Given the description of an element on the screen output the (x, y) to click on. 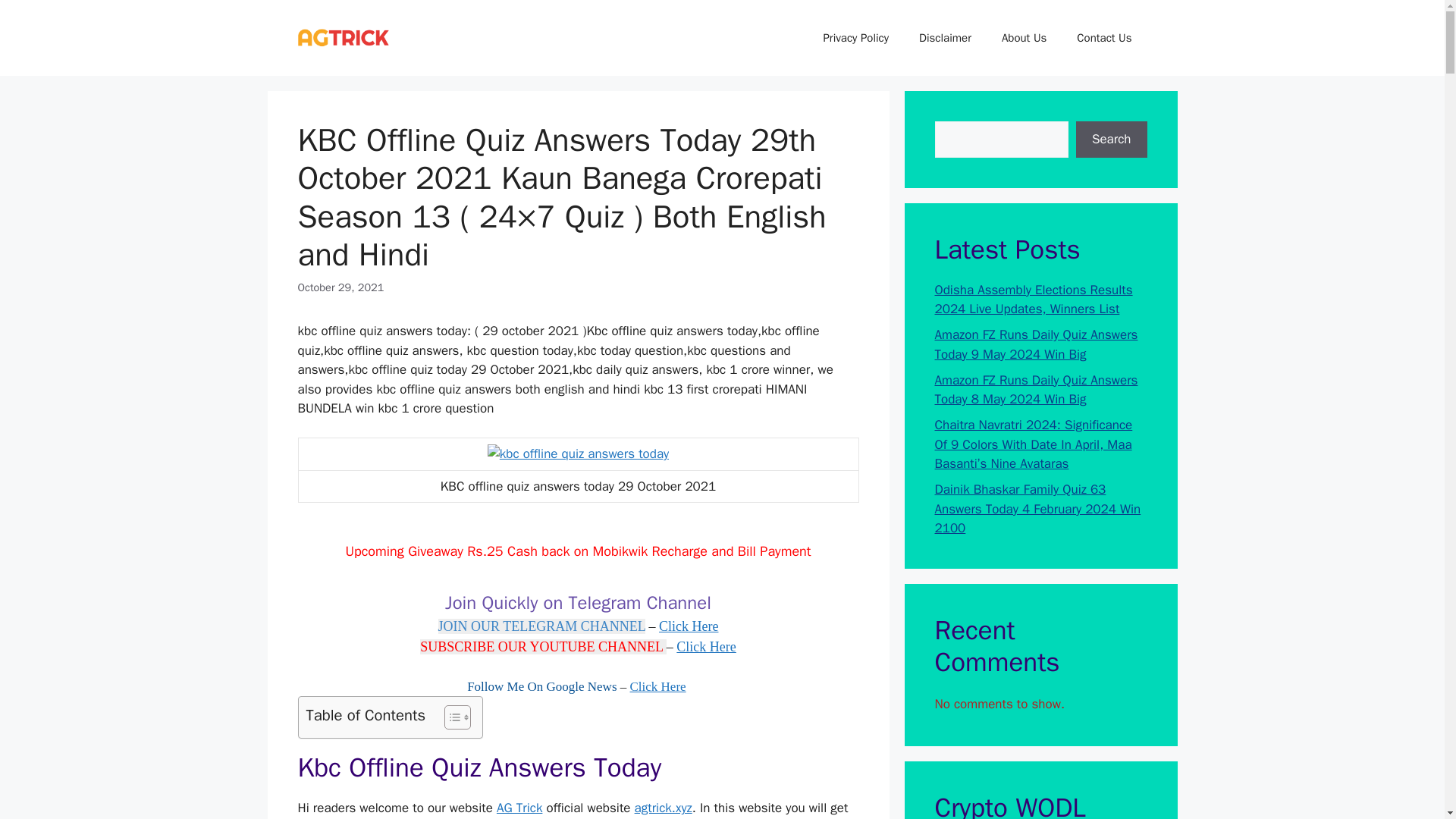
agtrick.xyz (663, 807)
About Us (1024, 37)
Click Here (688, 626)
AG Trick (518, 807)
Disclaimer (945, 37)
Click Here (657, 686)
Search (1111, 139)
